Given the description of an element on the screen output the (x, y) to click on. 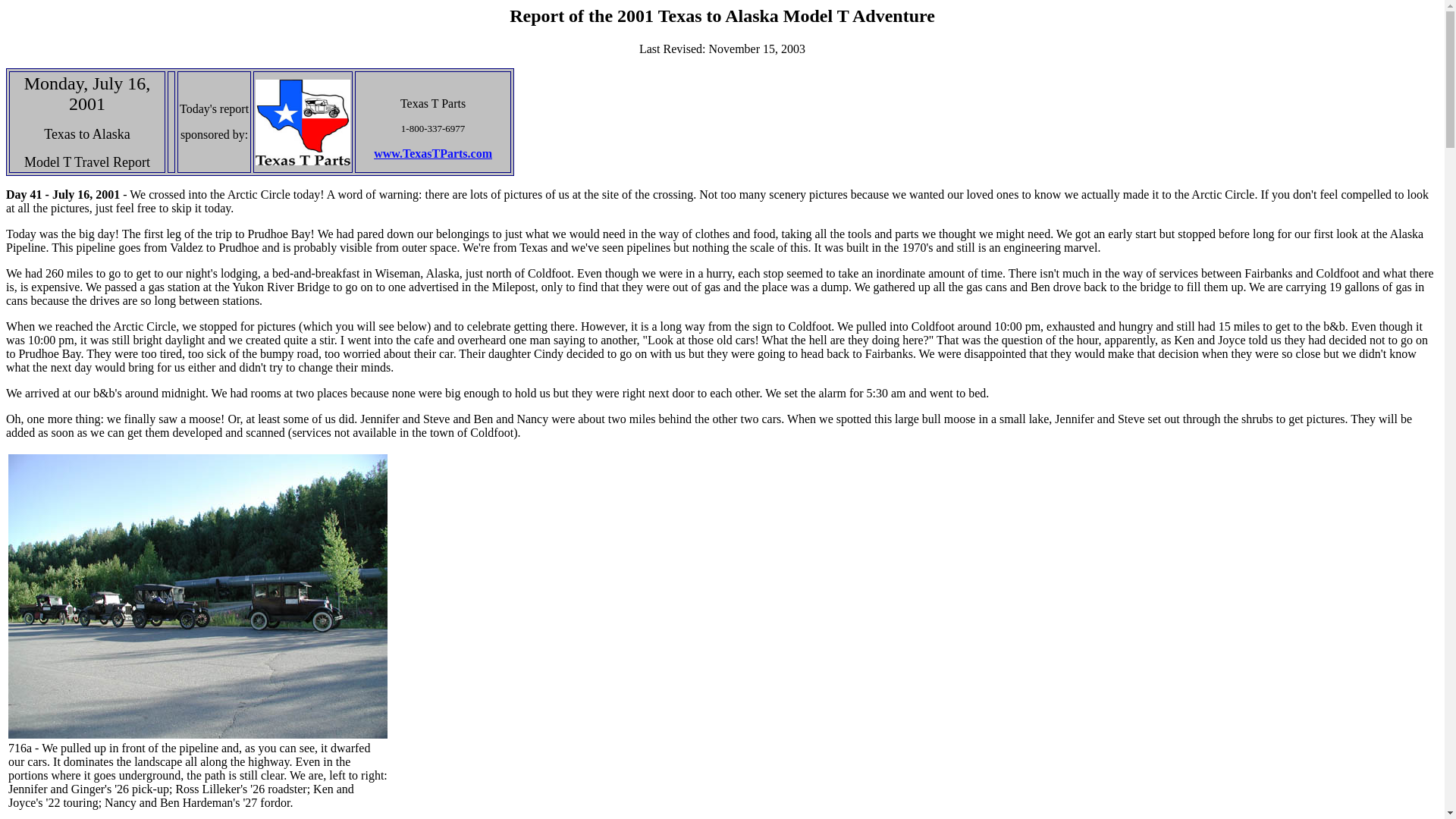
www.TexasTParts.com (433, 153)
